Given the description of an element on the screen output the (x, y) to click on. 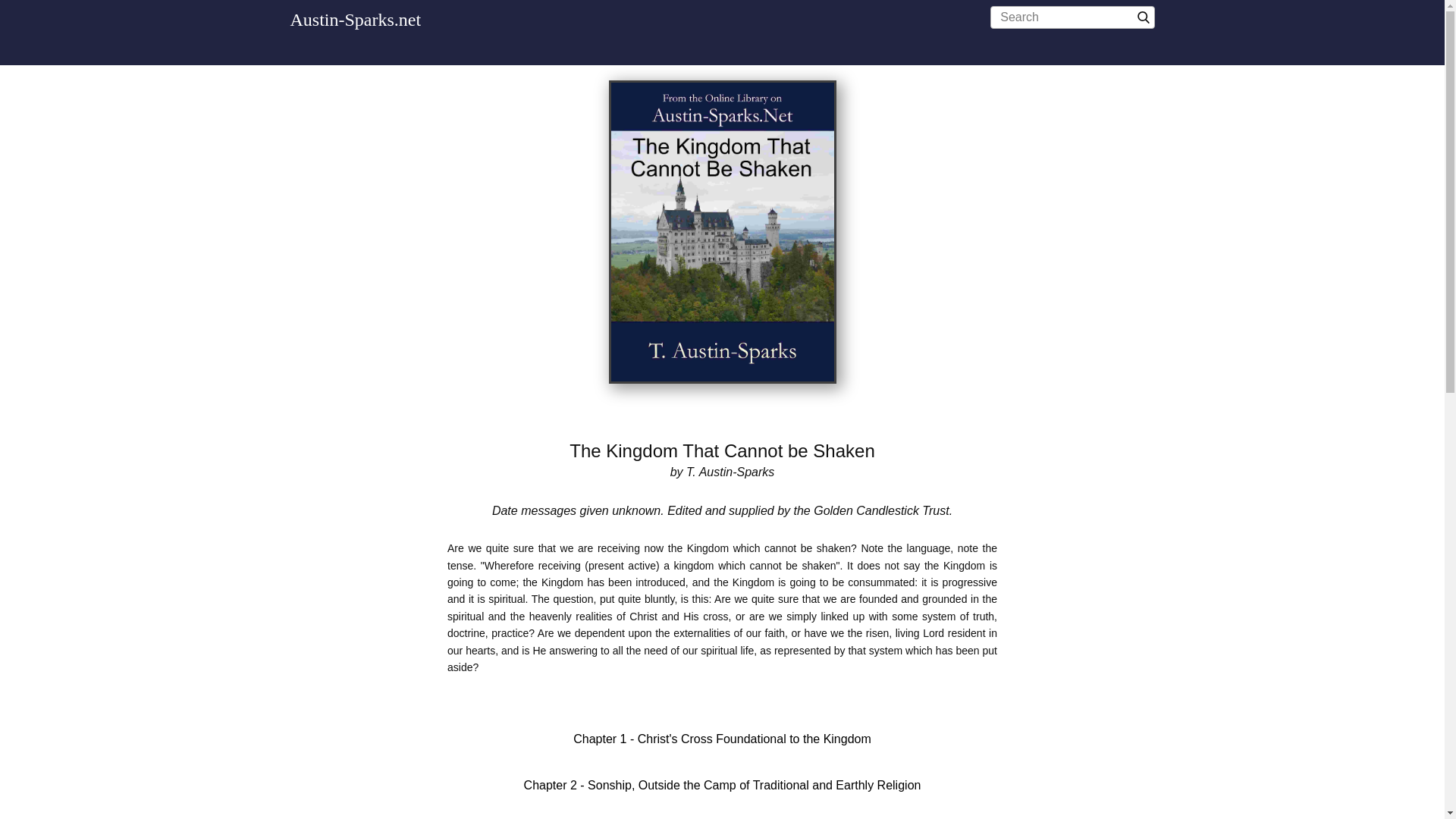
Austin-Sparks.net (354, 19)
